Given the description of an element on the screen output the (x, y) to click on. 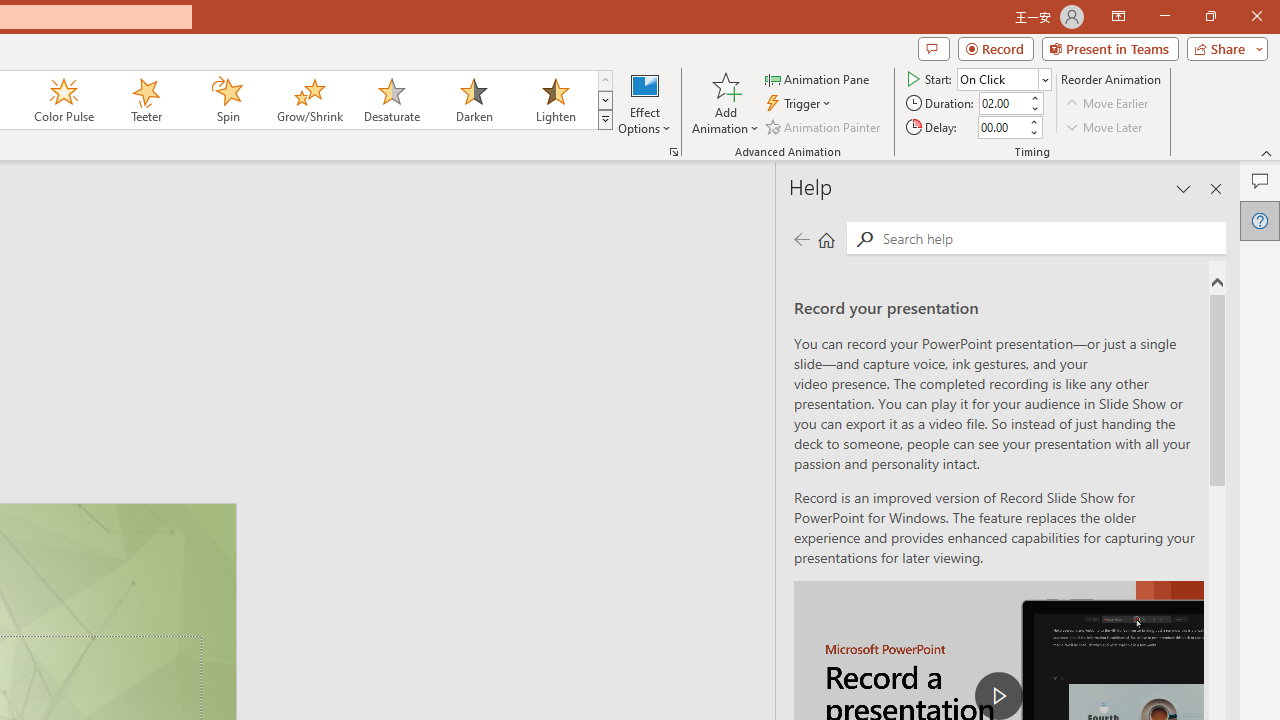
Move Later (1105, 126)
Animation Painter (824, 126)
Animation Styles (605, 120)
Trigger (799, 103)
Lighten (555, 100)
More Options... (673, 151)
play Record a Presentation (998, 695)
